Given the description of an element on the screen output the (x, y) to click on. 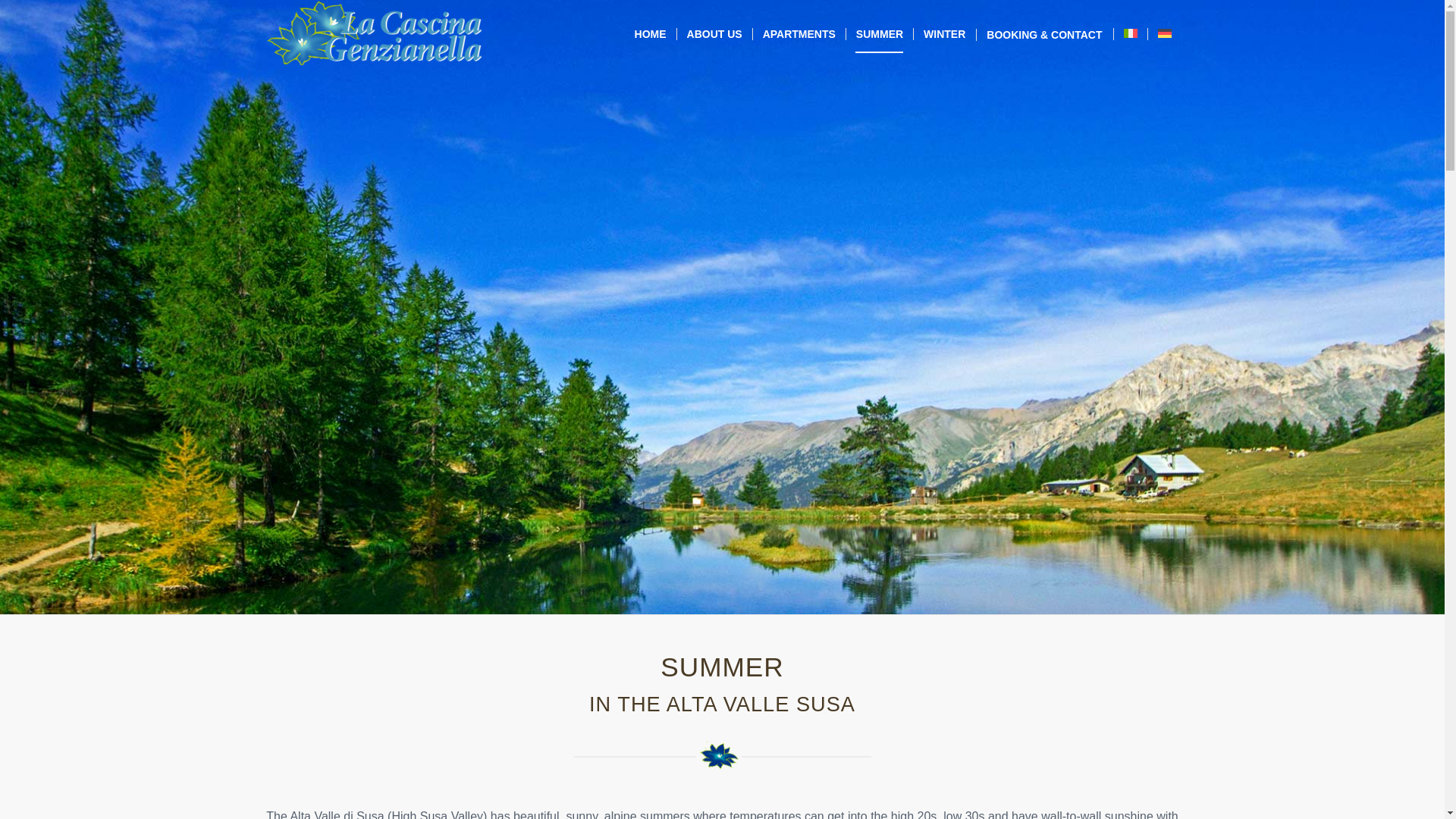
SUMMER (878, 33)
ABOUT US (714, 33)
WINTER (943, 33)
genzhr (721, 755)
APARTMENTS (798, 33)
